Given the description of an element on the screen output the (x, y) to click on. 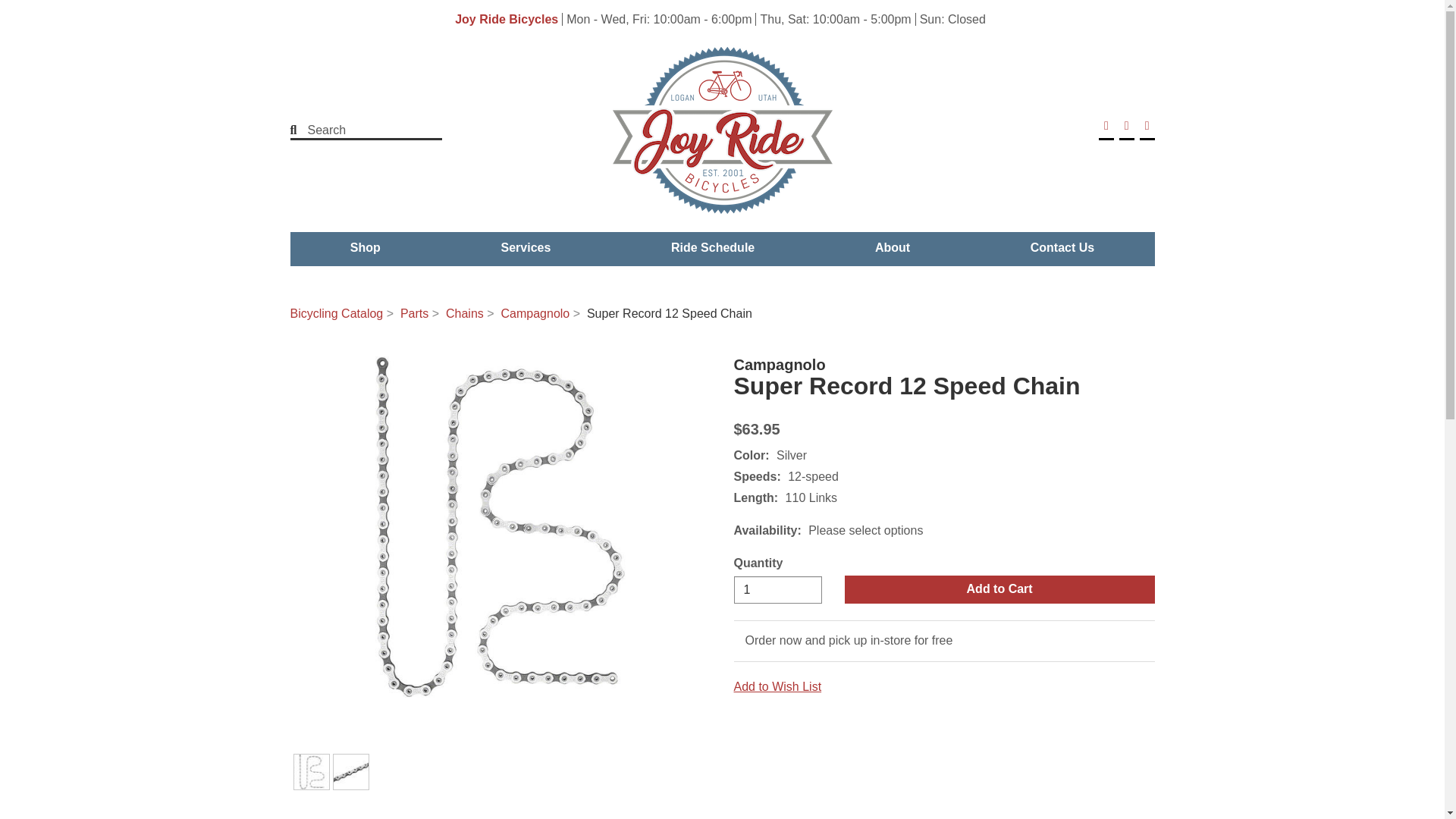
Shop (365, 247)
Joy Ride Bicycles Home Page (721, 130)
Search (356, 130)
1 (777, 589)
Color: Silver (350, 771)
Color: Silver (311, 771)
Joy Ride Bicycles (505, 19)
